Given the description of an element on the screen output the (x, y) to click on. 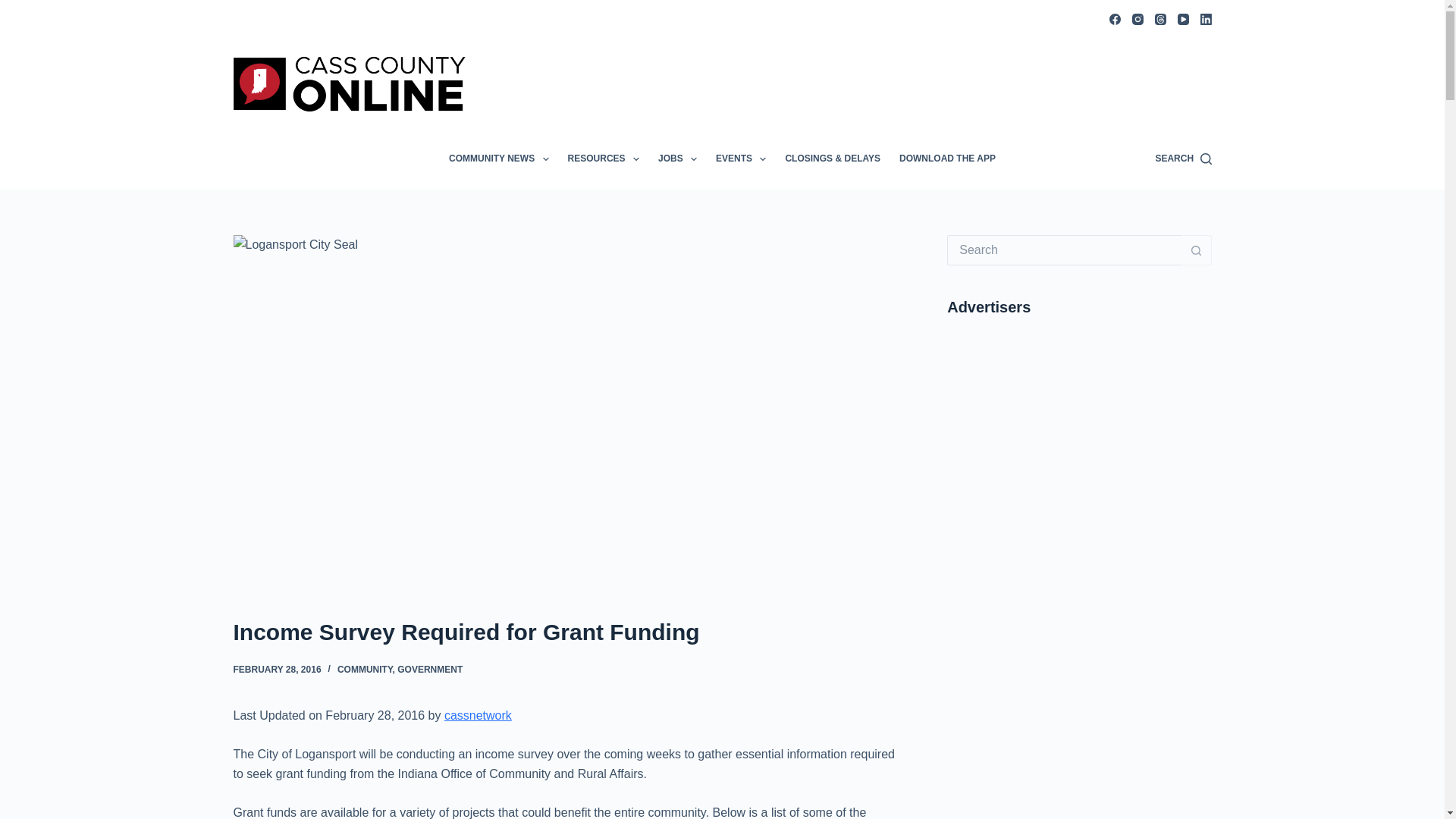
Skip to content (15, 7)
Income Survey Required for Grant Funding (570, 632)
Search for... (1063, 250)
